Given the description of an element on the screen output the (x, y) to click on. 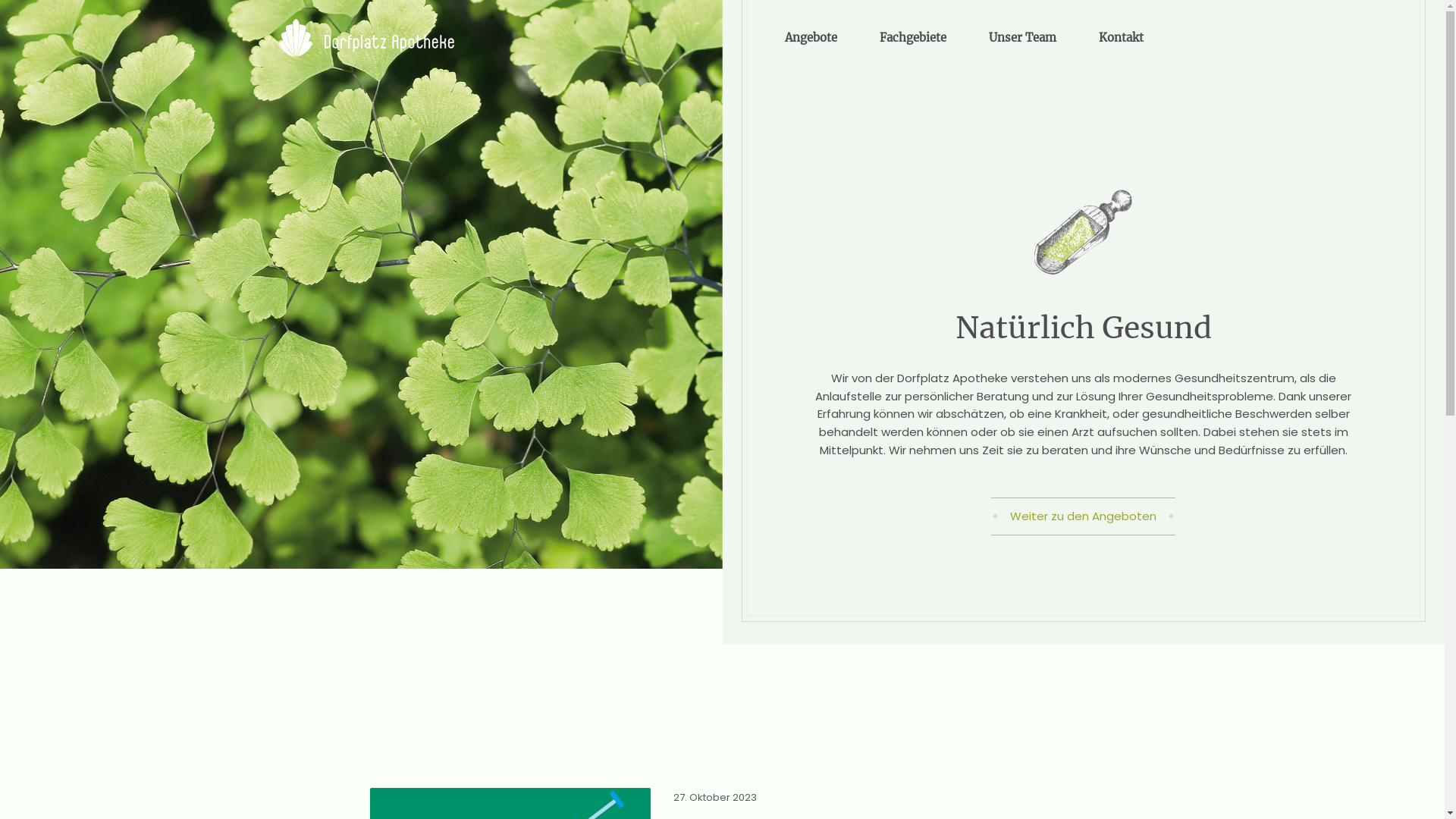
Fachgebiete Element type: text (912, 37)
Angebote Element type: text (810, 37)
Kontakt Element type: text (1120, 37)
Unser Team Element type: text (1022, 37)
